Given the description of an element on the screen output the (x, y) to click on. 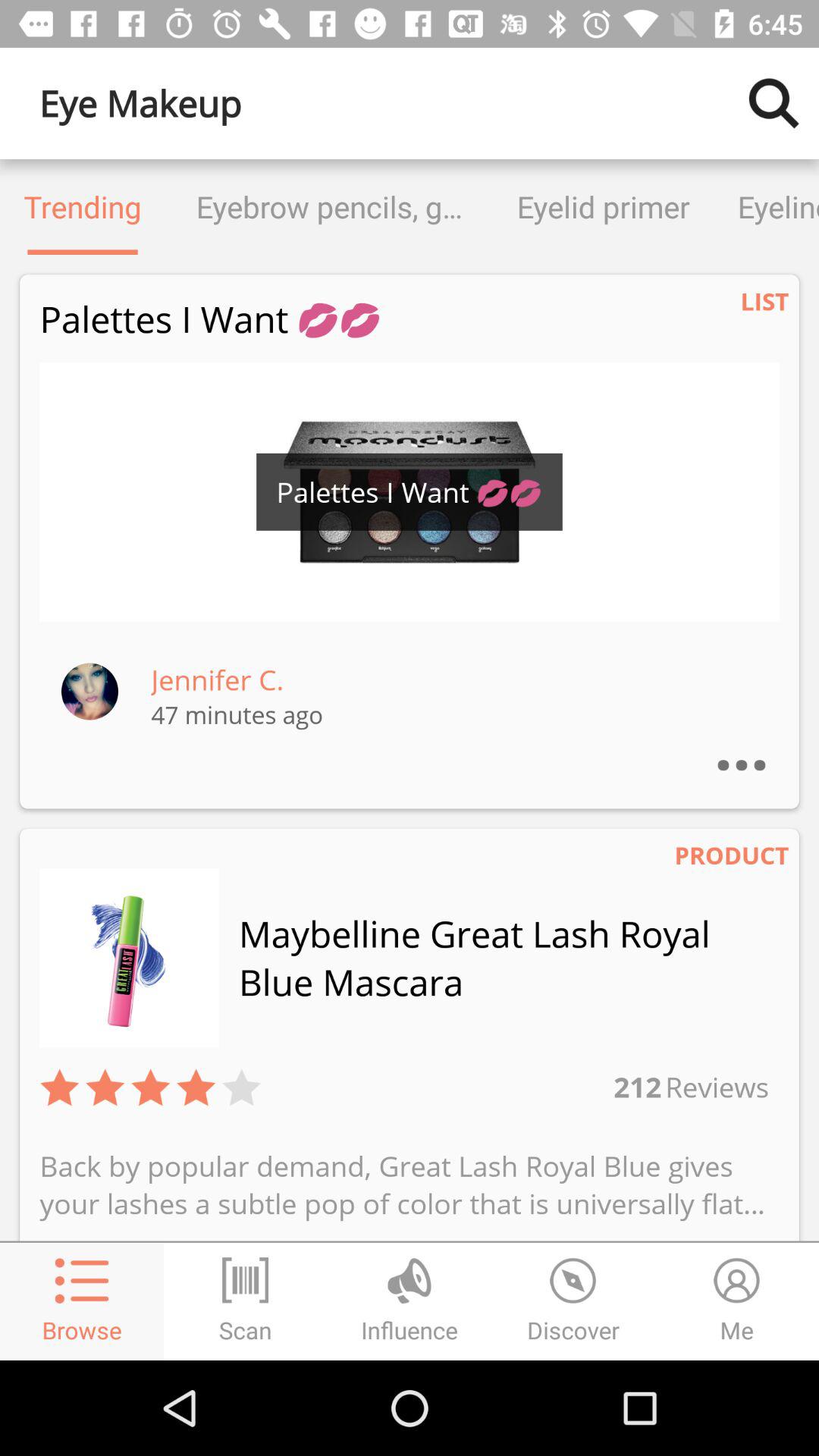
scroll to the 212 icon (622, 1086)
